Given the description of an element on the screen output the (x, y) to click on. 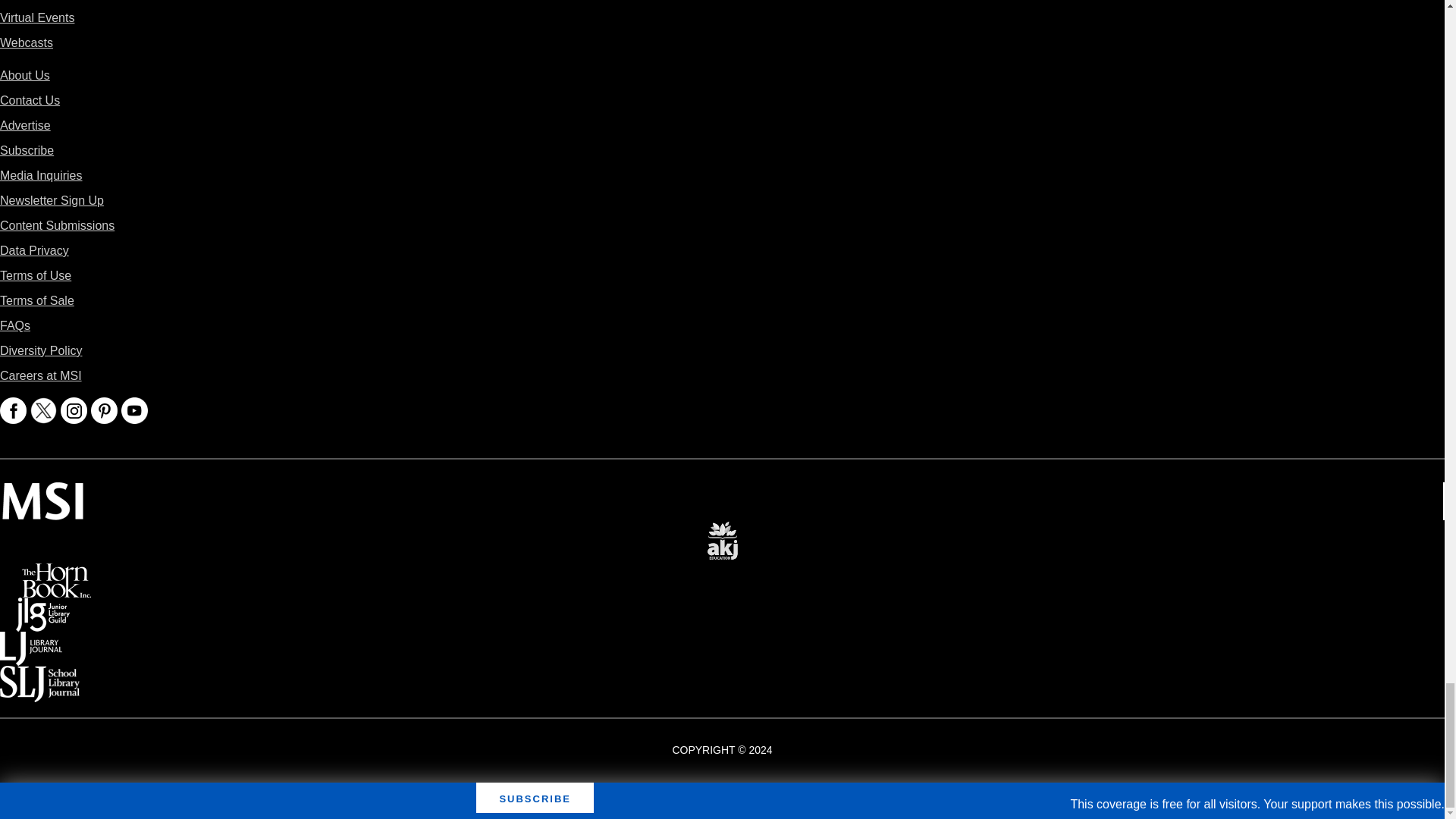
School Library Journal (40, 676)
Junior Library Guild (42, 607)
The Horn Book (56, 573)
Media Source Incorporated (42, 492)
AKJ (722, 530)
